Given the description of an element on the screen output the (x, y) to click on. 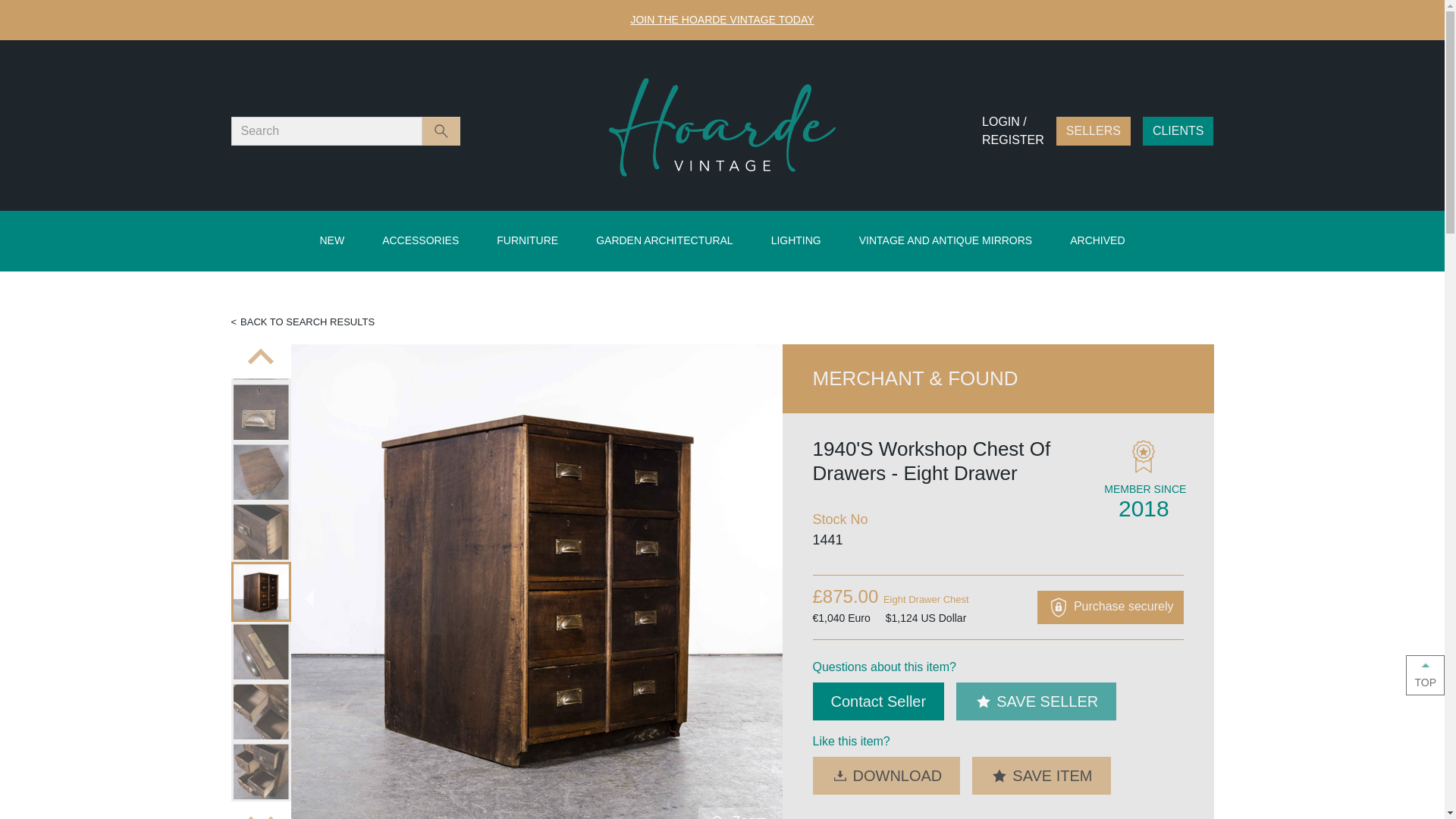
ACCESSORIES (420, 240)
CLIENTS (1178, 131)
SEARCH (441, 131)
SELLERS (1094, 131)
FURNITURE (527, 240)
JOIN THE HOARDE VINTAGE TODAY (721, 19)
